Given the description of an element on the screen output the (x, y) to click on. 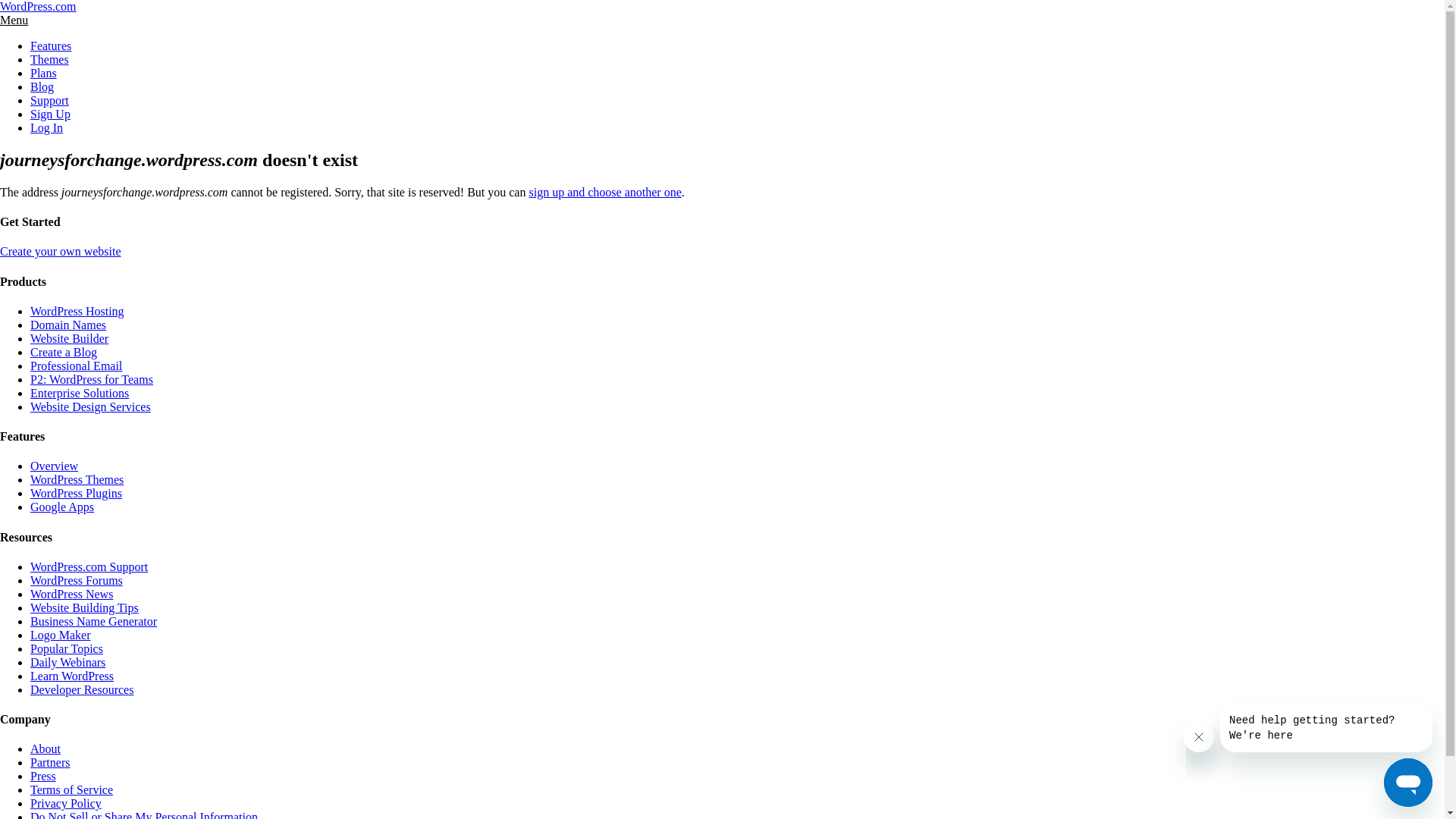
Developer Resources Element type: text (81, 689)
Partners Element type: text (49, 762)
Popular Topics Element type: text (66, 648)
Logo Maker Element type: text (60, 634)
WordPress Themes Element type: text (76, 479)
Menu Element type: text (14, 19)
Professional Email Element type: text (76, 365)
Domain Names Element type: text (68, 324)
Website Builder Element type: text (69, 338)
P2: WordPress for Teams Element type: text (91, 379)
Privacy Policy Element type: text (65, 803)
Overview Element type: text (54, 465)
WordPress Plugins Element type: text (76, 492)
Terms of Service Element type: text (71, 789)
Sign Up Element type: text (50, 113)
Features Element type: text (50, 45)
Log In Element type: text (46, 127)
Website Building Tips Element type: text (84, 607)
Website Design Services Element type: text (90, 406)
Press Element type: text (43, 775)
WordPress.com Element type: text (37, 6)
Business Name Generator Element type: text (93, 621)
Message from company Element type: hover (1326, 727)
Learn WordPress Element type: text (71, 675)
Button to launch messaging window Element type: hover (1407, 782)
Create your own website Element type: text (60, 250)
Blog Element type: text (41, 86)
Close message Element type: hover (1198, 736)
About Element type: text (45, 748)
WordPress.com Support Element type: text (88, 566)
WordPress Forums Element type: text (76, 580)
WordPress Hosting Element type: text (77, 310)
Support Element type: text (49, 100)
Enterprise Solutions Element type: text (79, 392)
sign up and choose another one Element type: text (604, 191)
Plans Element type: text (43, 72)
WordPress News Element type: text (71, 593)
Daily Webinars Element type: text (67, 661)
Google Apps Element type: text (62, 506)
Themes Element type: text (49, 59)
Create a Blog Element type: text (63, 351)
